Given the description of an element on the screen output the (x, y) to click on. 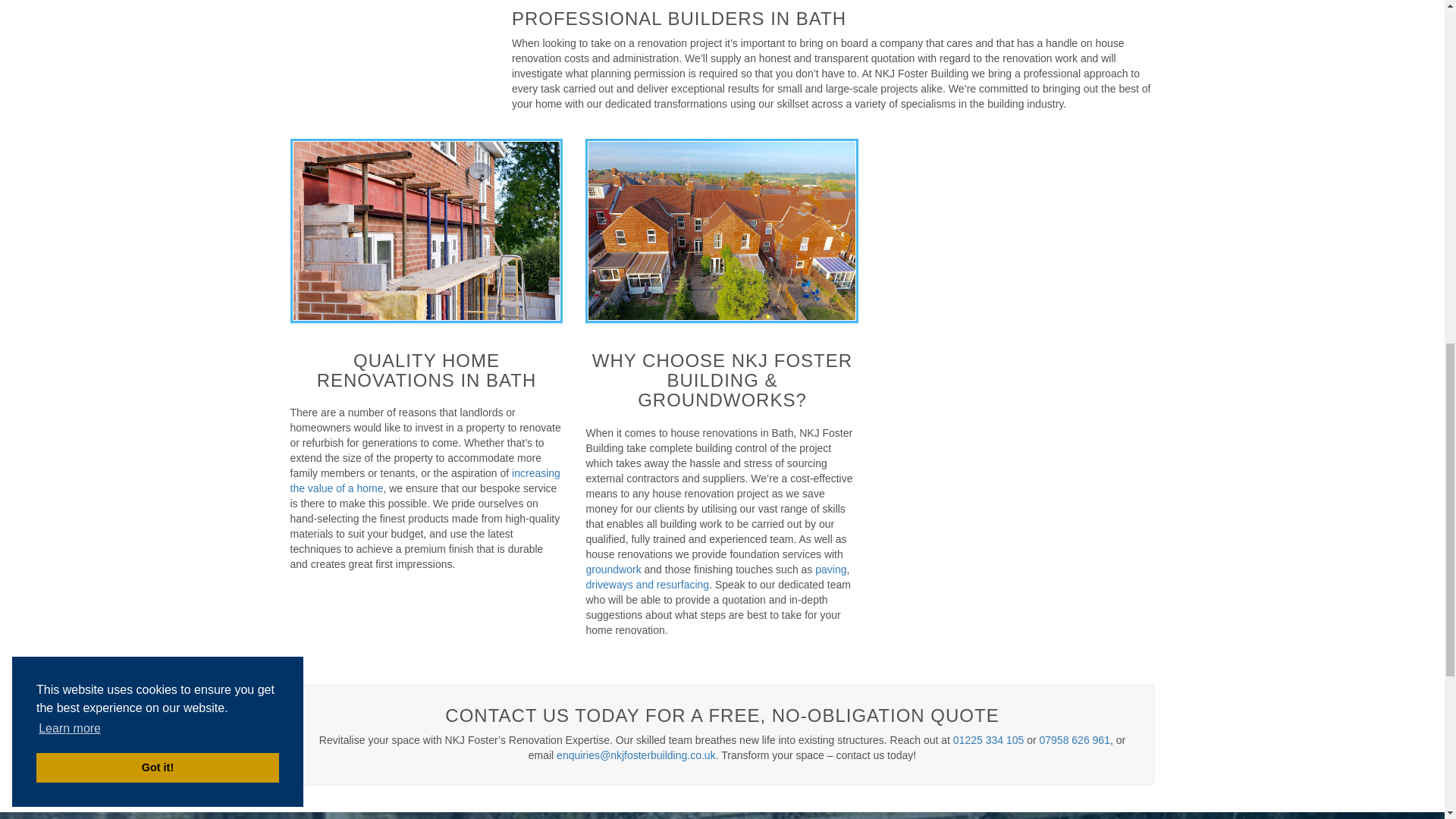
07958 626 961 (1074, 739)
driveways and resurfacing (647, 584)
groundwork (612, 569)
paving (830, 569)
increasing the value of a home (424, 480)
01225 334 105 (988, 739)
